Given the description of an element on the screen output the (x, y) to click on. 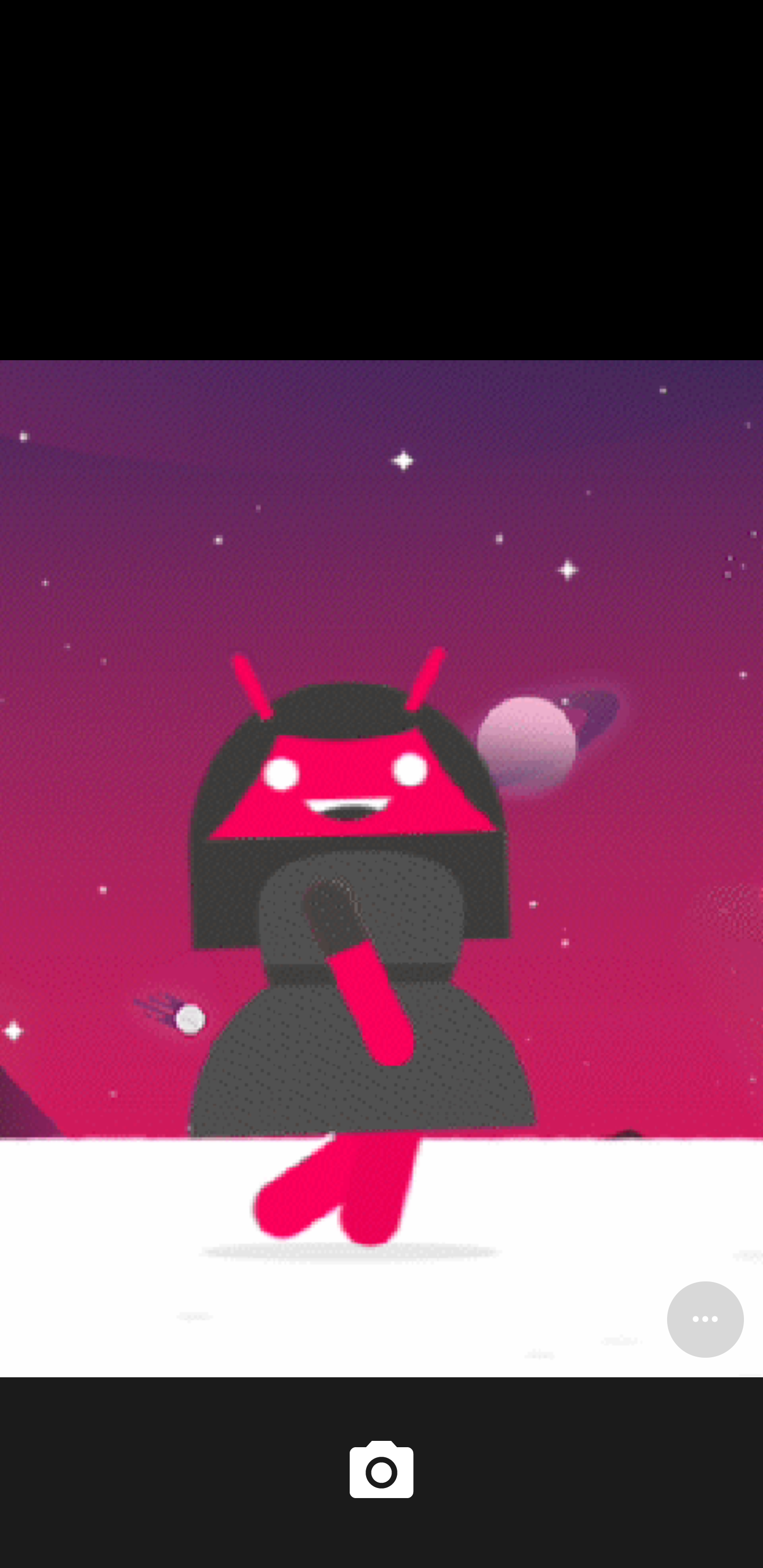
Options (704, 1319)
Shutter (381, 1472)
